Given the description of an element on the screen output the (x, y) to click on. 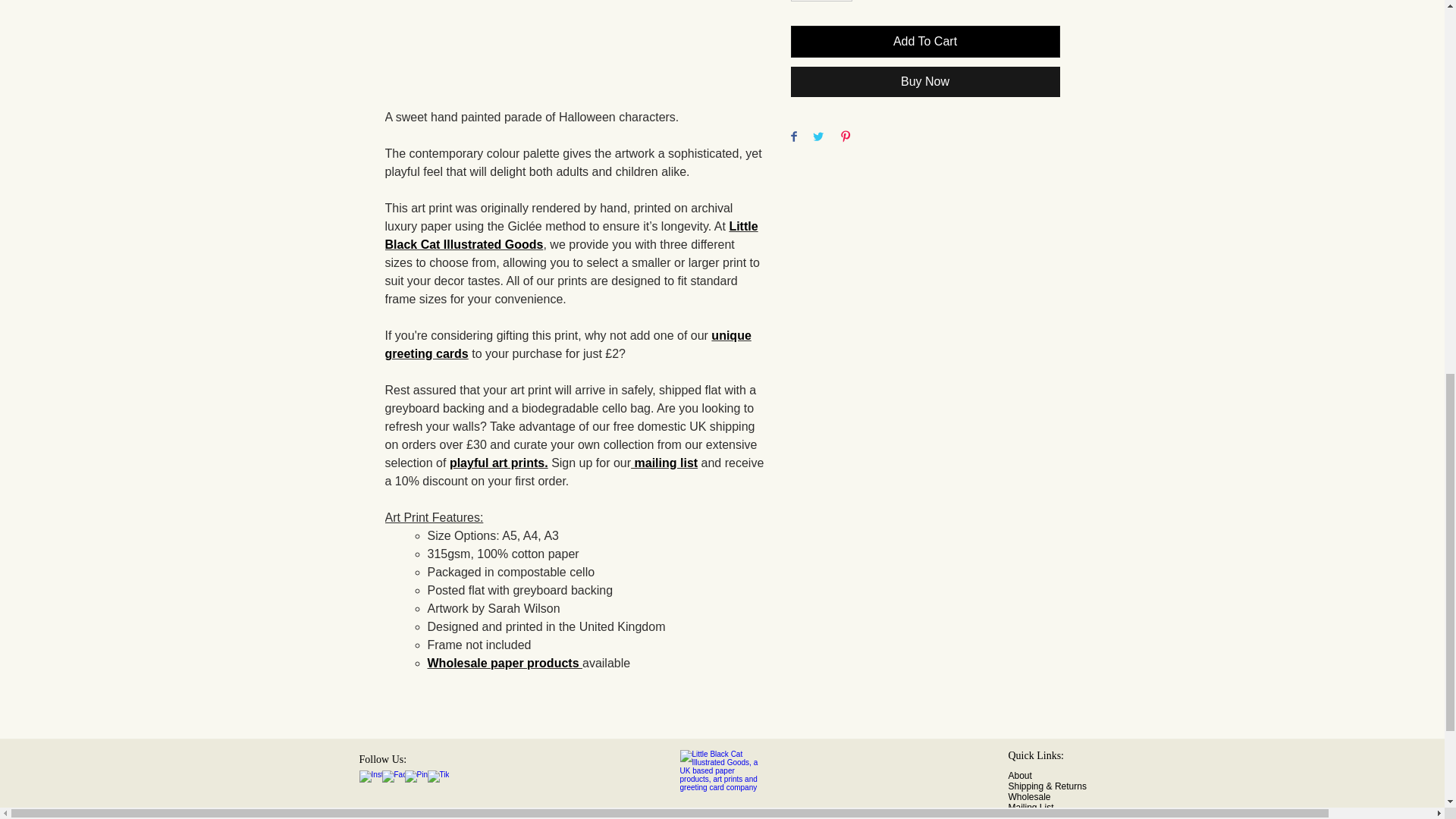
unique greeting cards (568, 344)
Little Black Cat Illustrated Goods (571, 235)
1 (820, 0)
playful art prints. (498, 462)
